Given the description of an element on the screen output the (x, y) to click on. 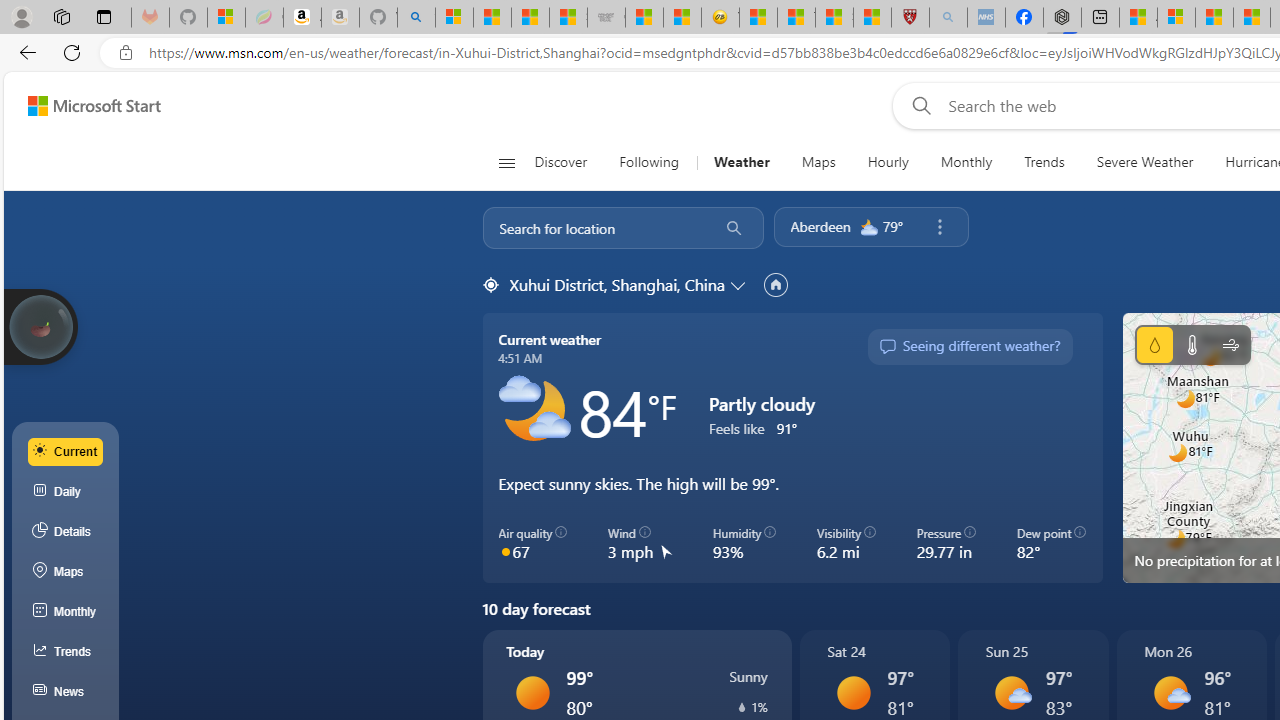
Details (65, 531)
Sunny (853, 692)
Wind (1230, 344)
Seeing different weather? (969, 347)
Xuhui District, Shanghai, China (616, 284)
Temperature (1191, 344)
